Given the description of an element on the screen output the (x, y) to click on. 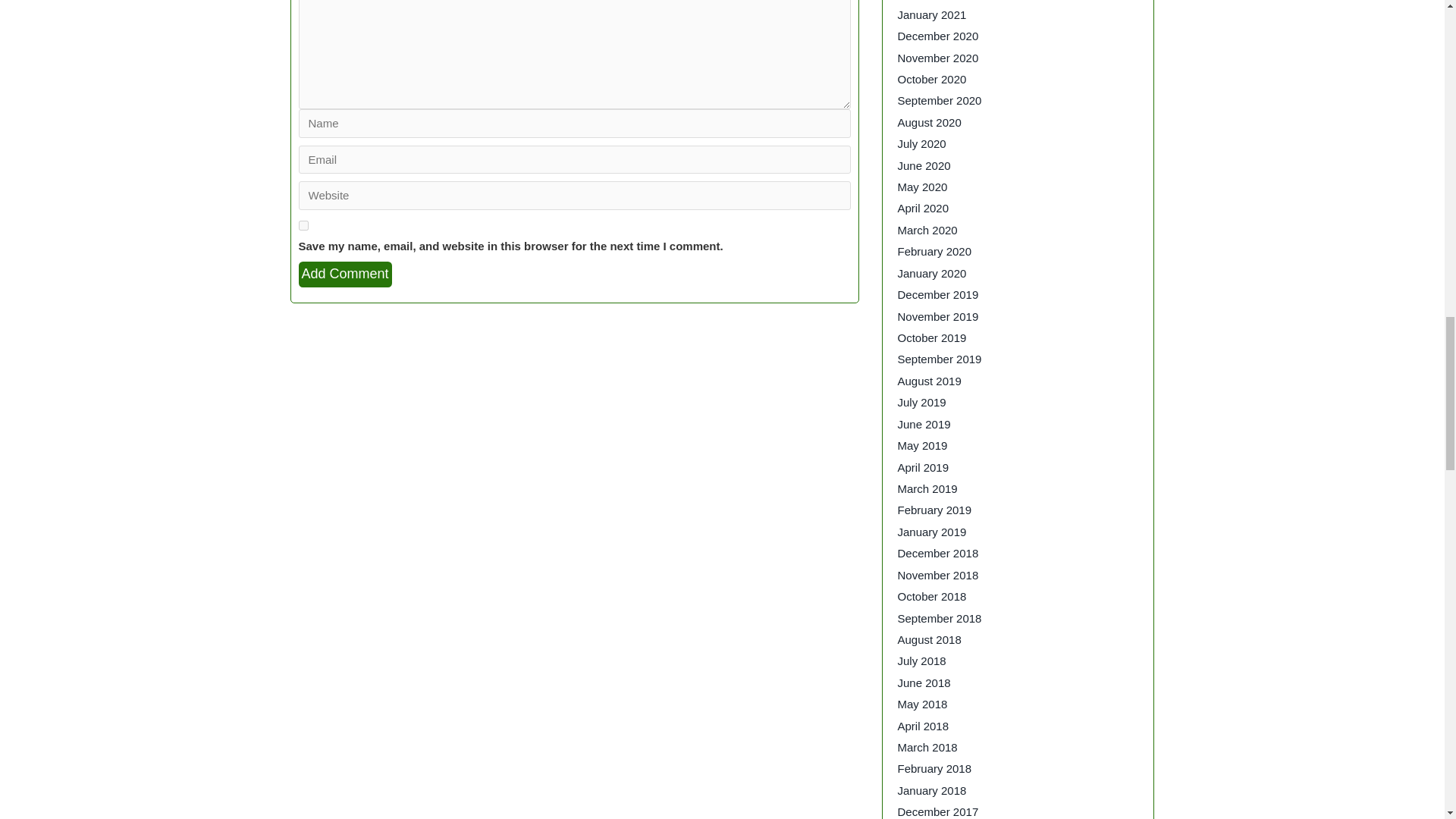
Add Comment (344, 274)
yes (303, 225)
Add Comment (344, 274)
